Given the description of an element on the screen output the (x, y) to click on. 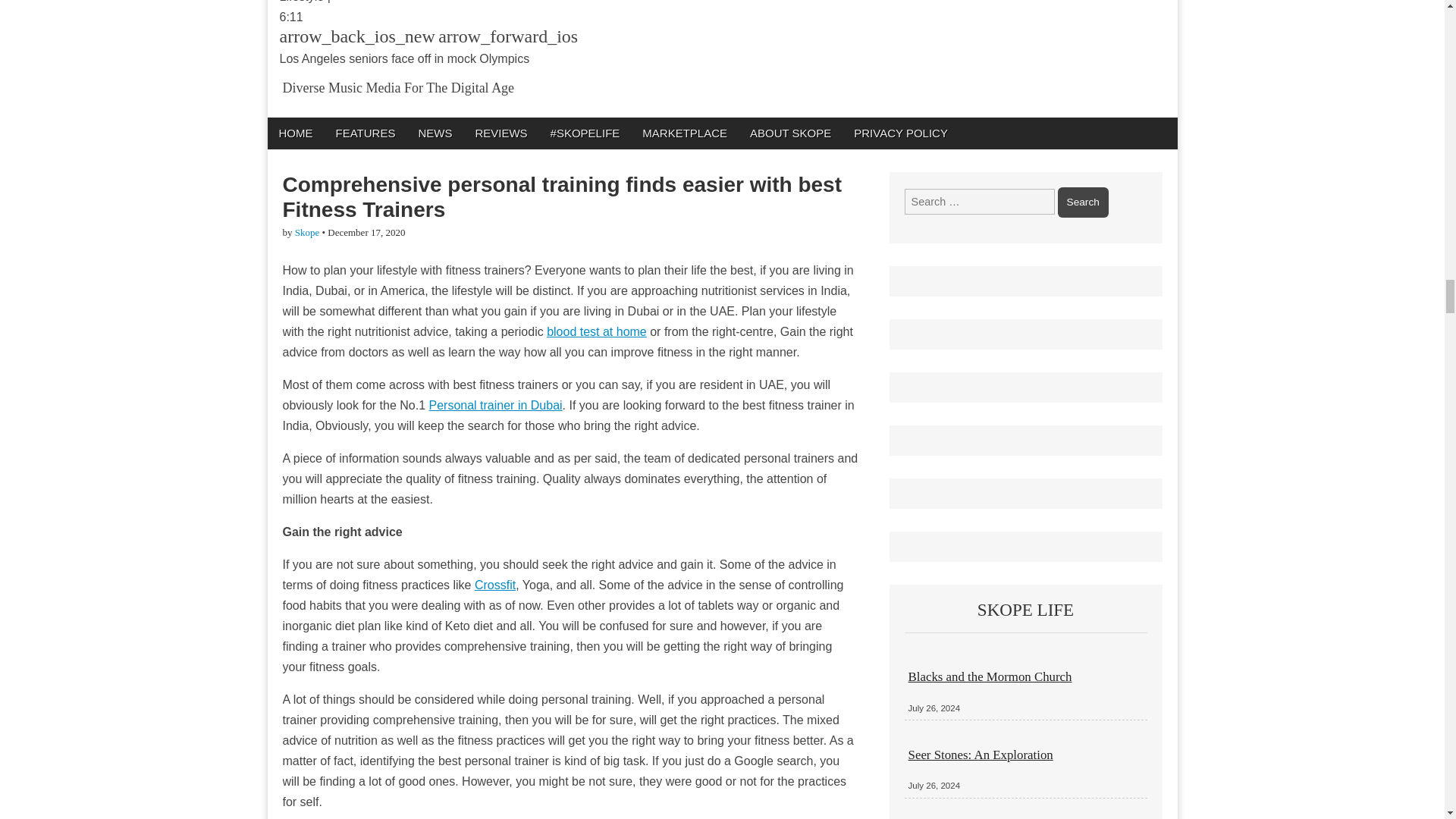
Blacks and the Mormon Church (989, 676)
Seer Stones: An Exploration (980, 754)
MARKETPLACE (684, 132)
HOME (294, 132)
Personal trainer in Dubai (495, 404)
PRIVACY POLICY (901, 132)
Search (1083, 202)
FEATURES (365, 132)
ABOUT SKOPE (790, 132)
Posts by Skope (307, 232)
Search (1083, 202)
Skope (307, 232)
blood test at home (596, 331)
NEWS (434, 132)
